Given the description of an element on the screen output the (x, y) to click on. 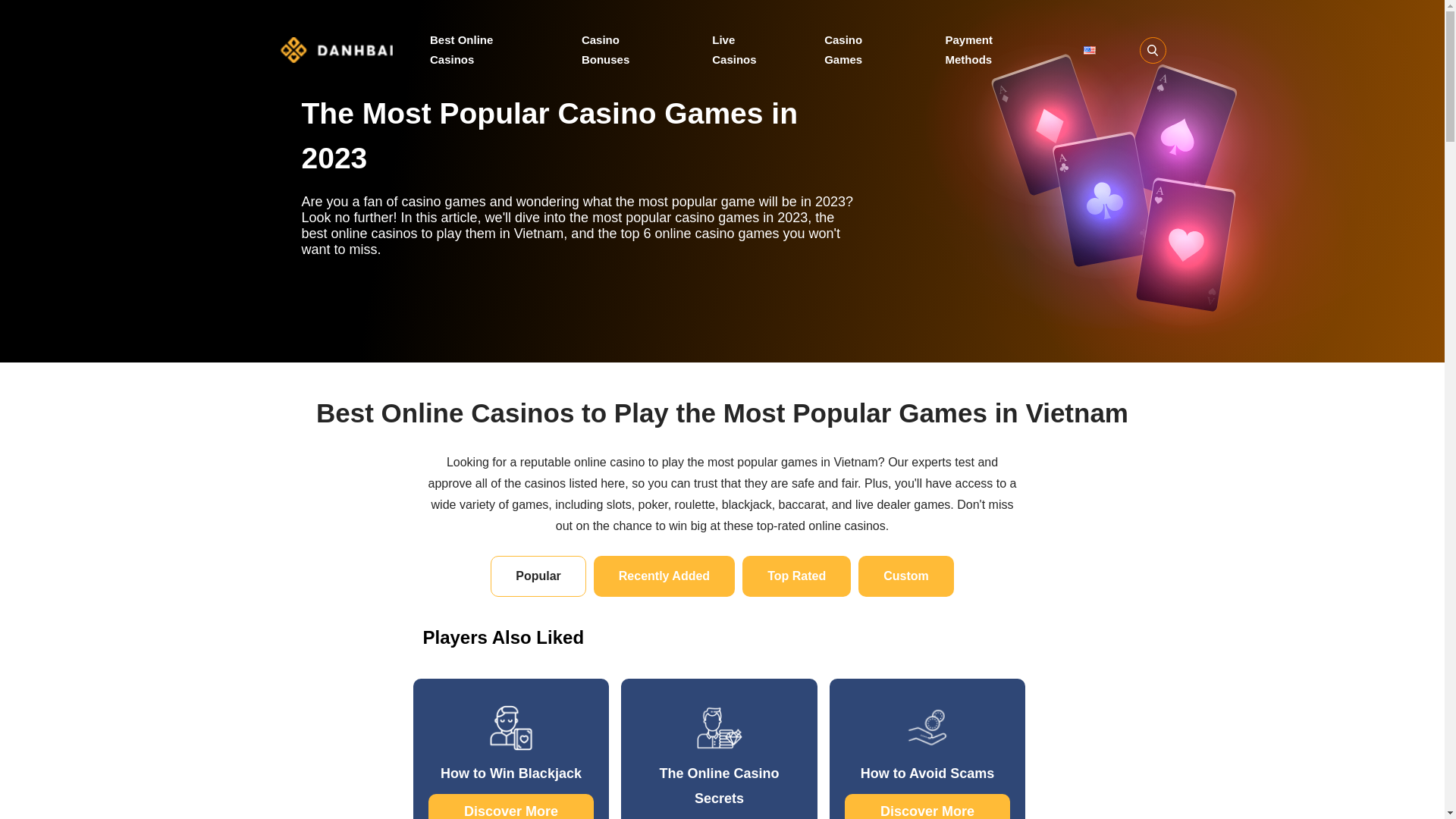
Recently Added (664, 576)
Top Rated (796, 576)
Custom (906, 576)
Payment Methods (991, 49)
Discover More (511, 806)
Live Casinos (745, 49)
Popular (538, 576)
Casino Games (862, 49)
Best Online Casinos (483, 49)
Casino Bonuses (624, 49)
